Given the description of an element on the screen output the (x, y) to click on. 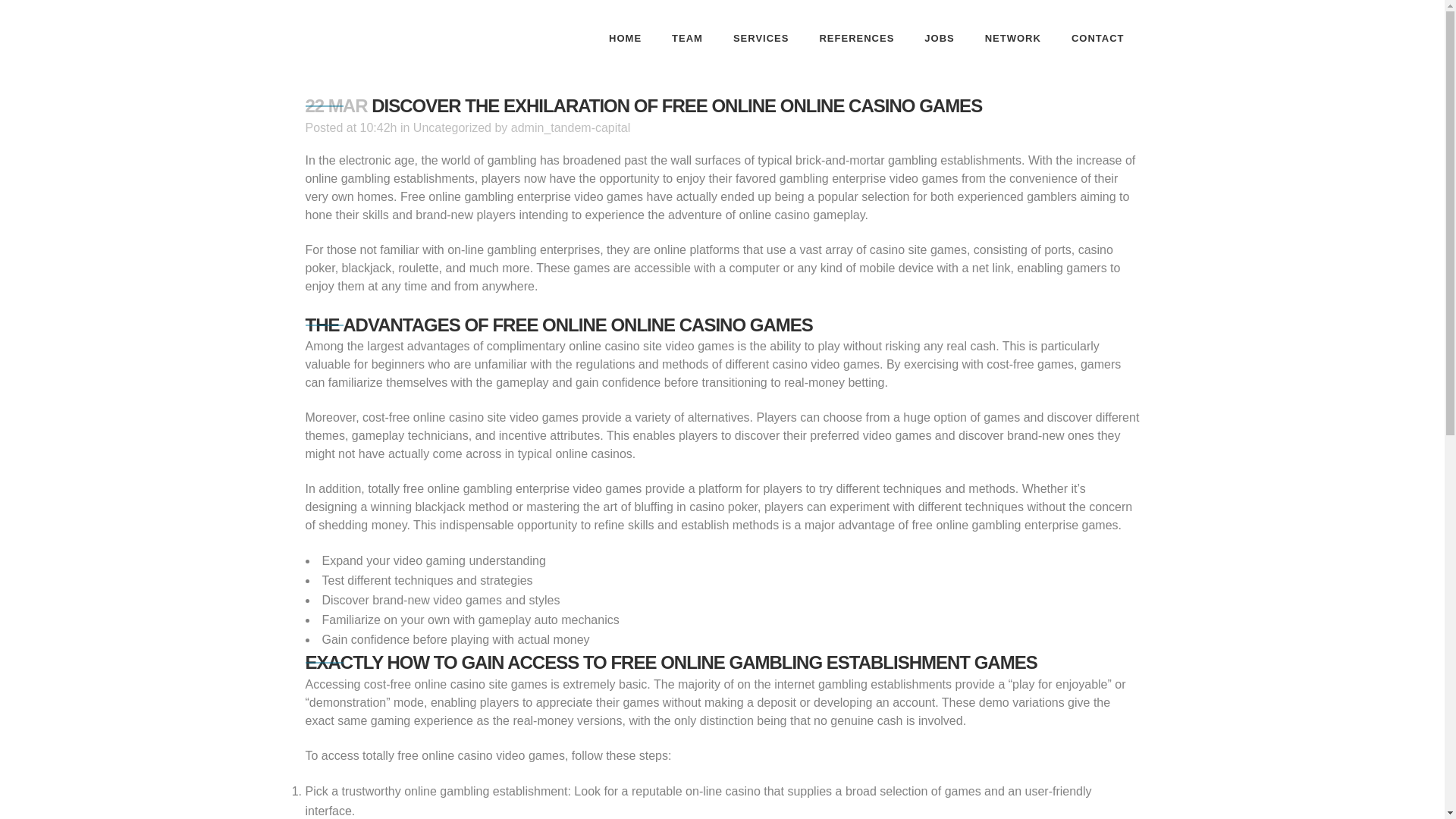
REFERENCES (855, 38)
CONTACT (1098, 38)
Uncategorized (452, 127)
NETWORK (1013, 38)
SERVICES (761, 38)
